Given the description of an element on the screen output the (x, y) to click on. 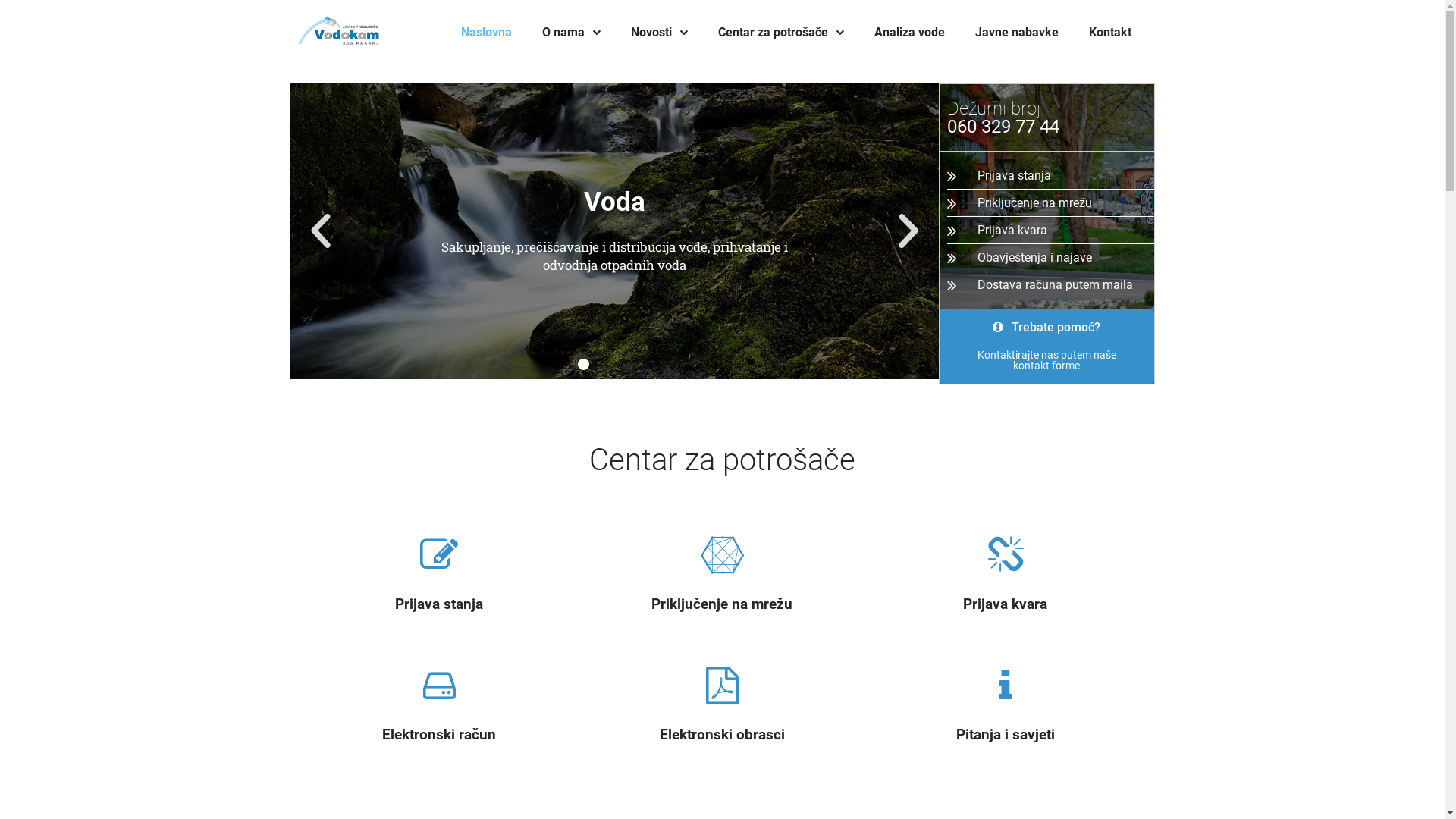
Pitanja i savjeti Element type: text (1005, 734)
Prijava stanja Element type: text (1049, 175)
Javne nabavke Element type: text (1016, 32)
Prijava stanja Element type: text (439, 604)
Novosti Element type: text (658, 32)
Prijava kvara Element type: text (1005, 604)
Analiza vode Element type: text (909, 32)
Prijava kvara Element type: text (1049, 230)
Naslovna Element type: text (486, 32)
Kontakt Element type: text (1109, 32)
O nama Element type: text (571, 32)
